Given the description of an element on the screen output the (x, y) to click on. 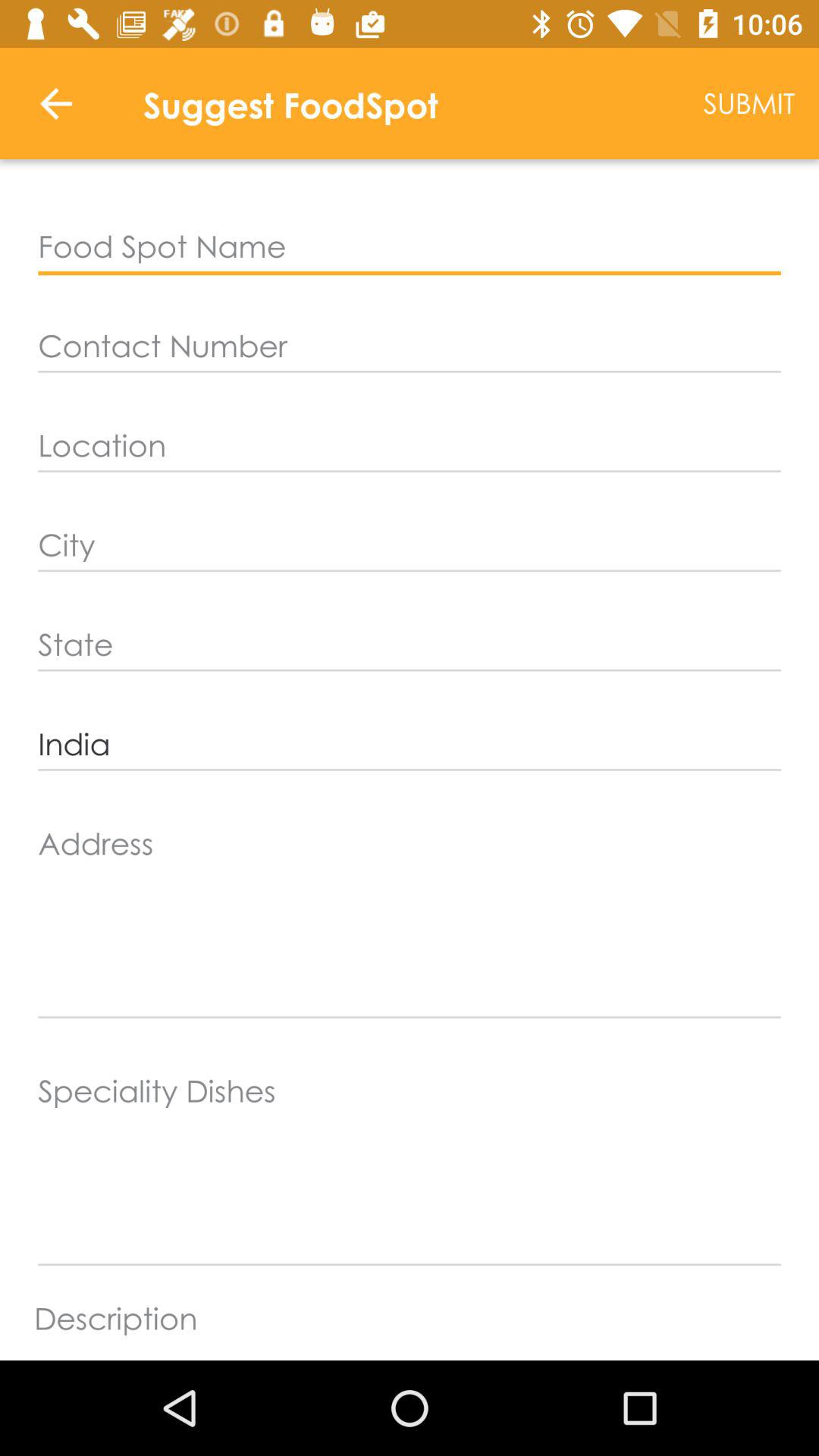
turn on the icon next to the suggest foodspot (55, 103)
